Given the description of an element on the screen output the (x, y) to click on. 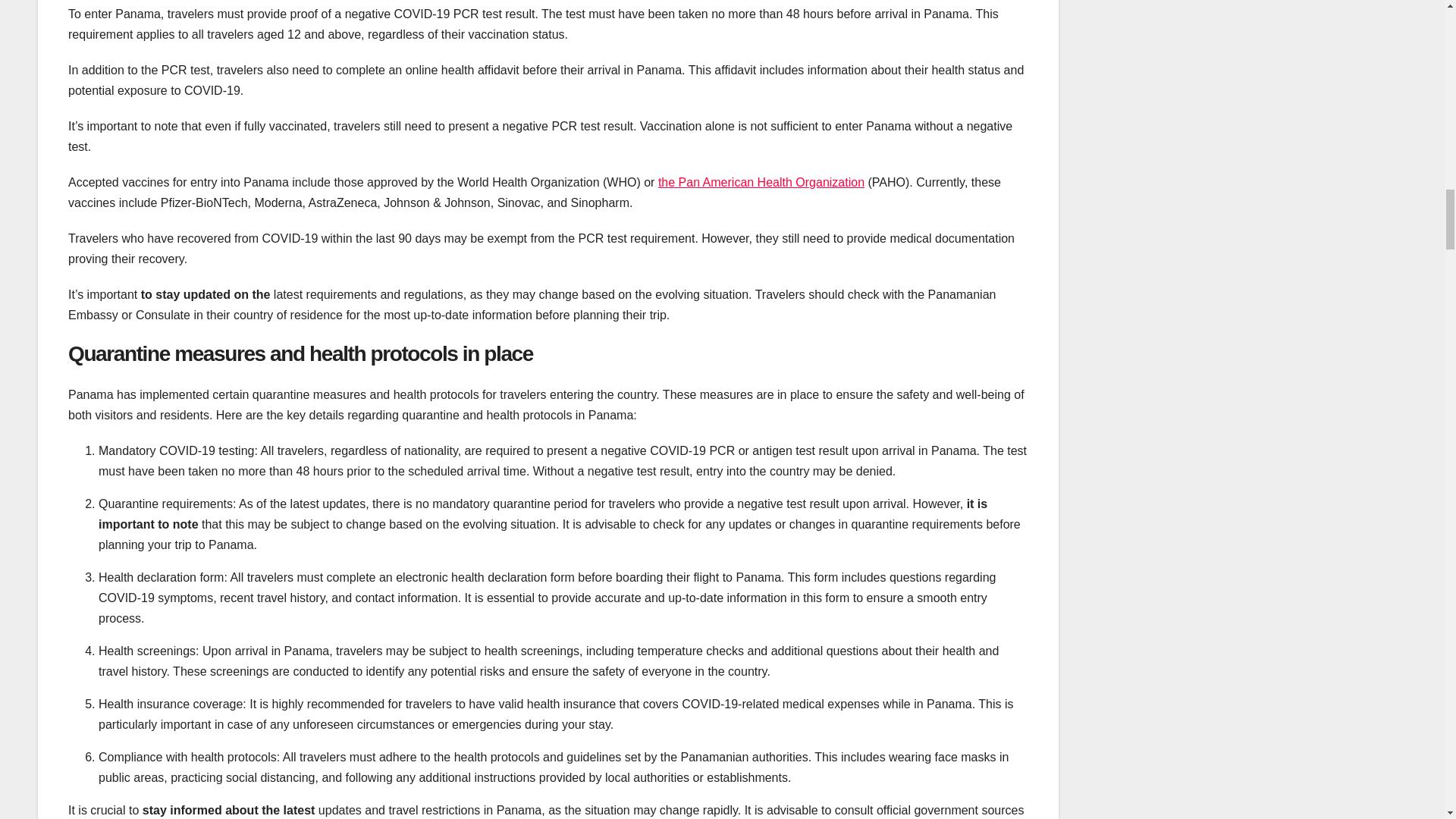
the Pan American Health Organization (761, 182)
